Given the description of an element on the screen output the (x, y) to click on. 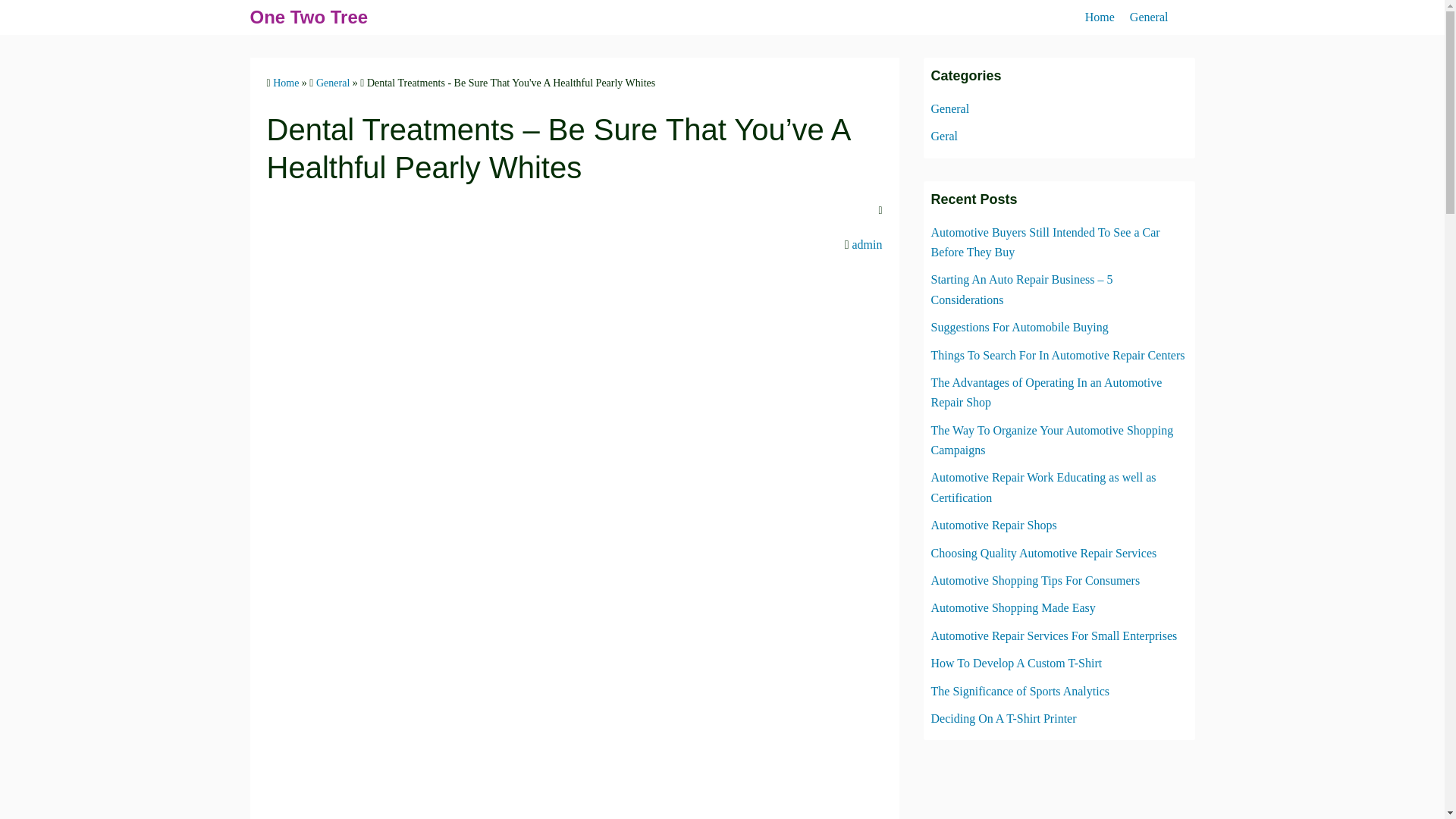
Suggestions For Automobile Buying (1019, 327)
General (950, 108)
Automotive Repair Work Educating as well as Certification (1043, 486)
The Way To Organize Your Automotive Shopping Campaigns (1052, 440)
How To Develop A Custom T-Shirt (1016, 662)
Geral (944, 135)
Home (285, 82)
Deciding On A T-Shirt Printer (1004, 717)
Automotive Shopping Tips For Consumers (1035, 580)
